Given the description of an element on the screen output the (x, y) to click on. 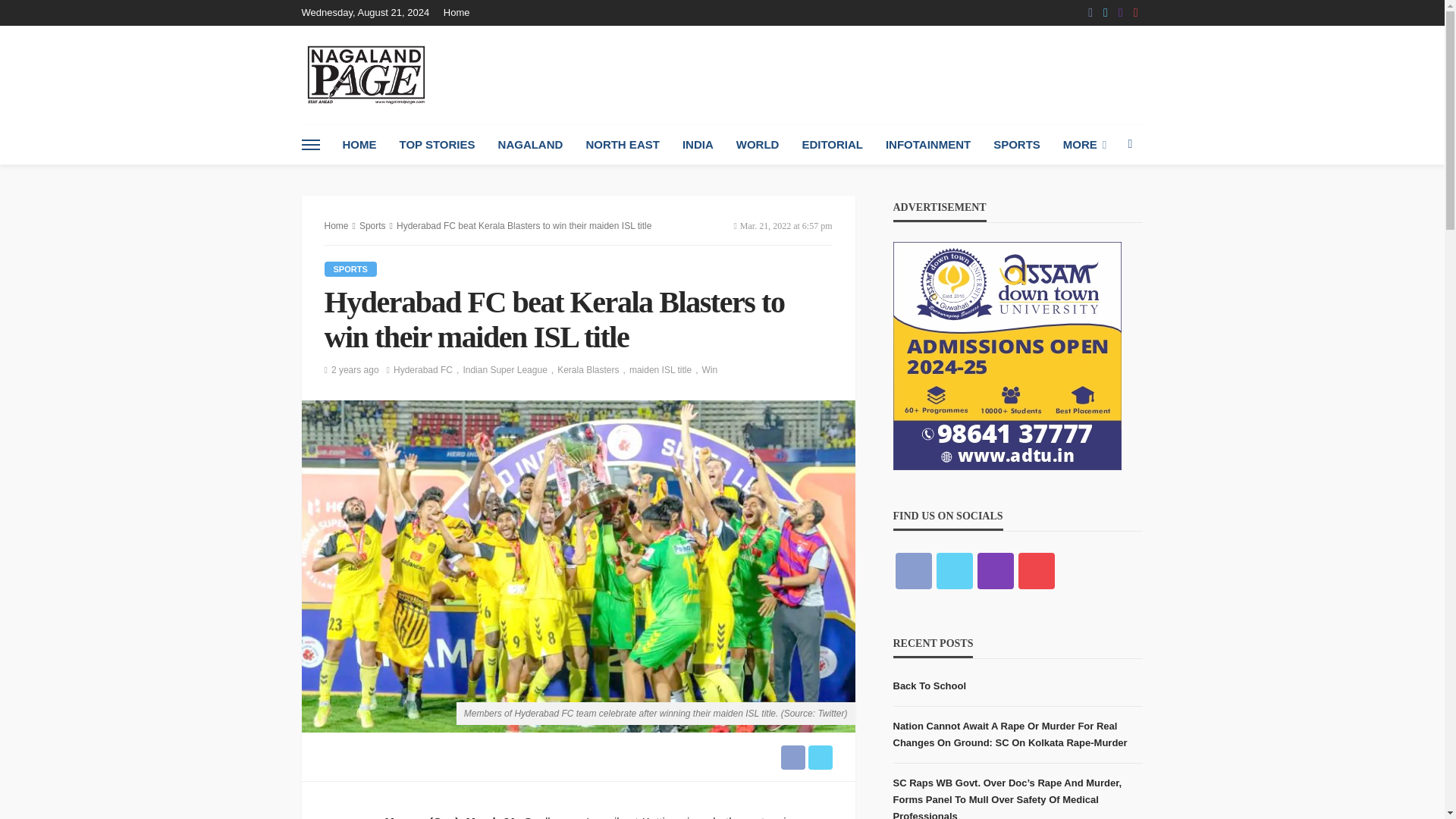
Kerala Blasters (592, 369)
NORTH EAST (622, 144)
nagaland-page-logo (365, 74)
SPORTS (1016, 144)
INDIA (698, 144)
INFOTAINMENT (928, 144)
Advertisement (866, 74)
HOME (358, 144)
EDITORIAL (832, 144)
Hyderabad FC (428, 369)
